Given the description of an element on the screen output the (x, y) to click on. 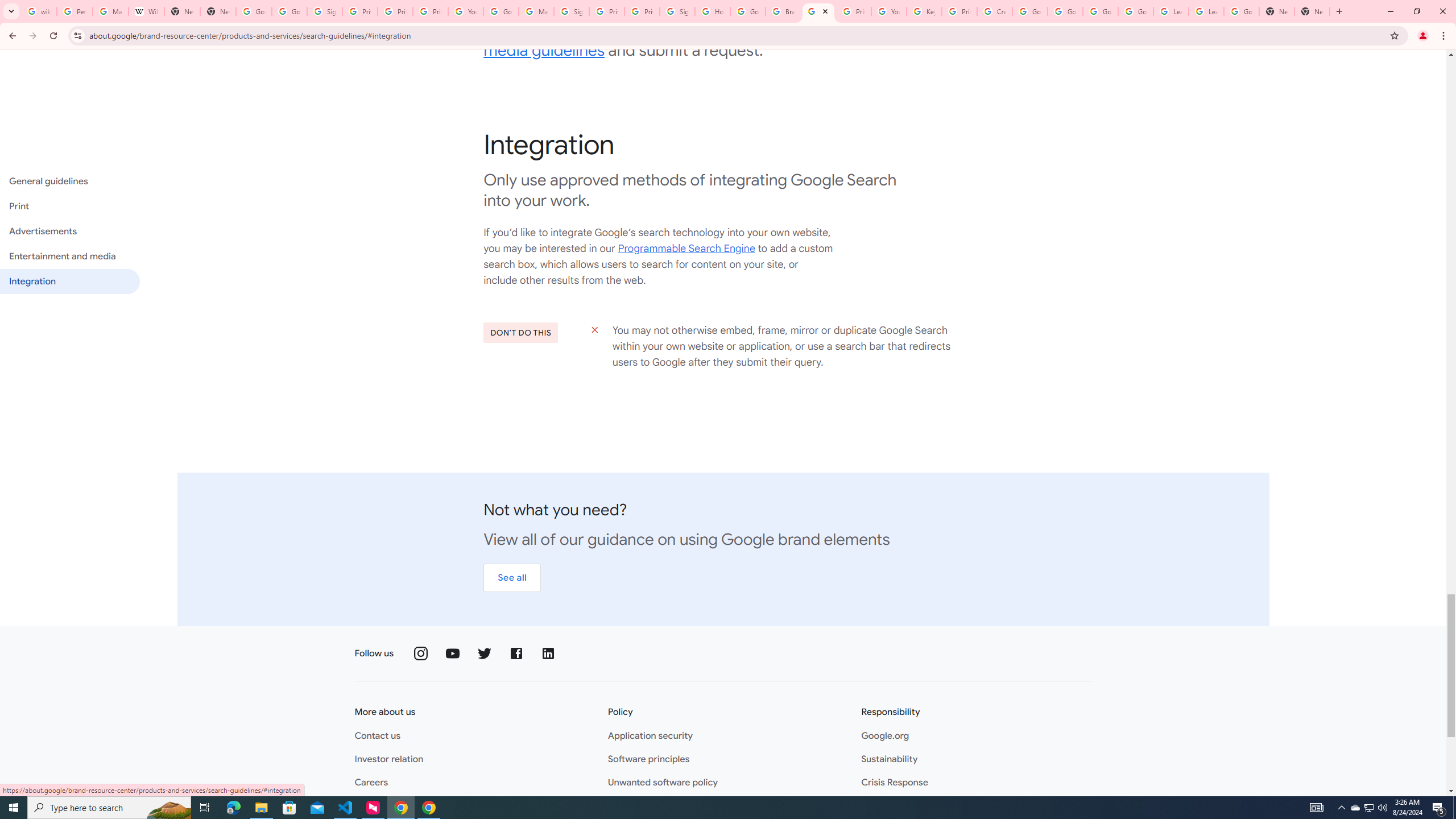
Manage your Location History - Google Search Help (110, 11)
Follow us on YouTube (452, 653)
Google Account Help (1064, 11)
entertainment and media guidelines (684, 39)
New Tab (1276, 11)
Follow us on Facebook (516, 653)
Print (69, 206)
